Given the description of an element on the screen output the (x, y) to click on. 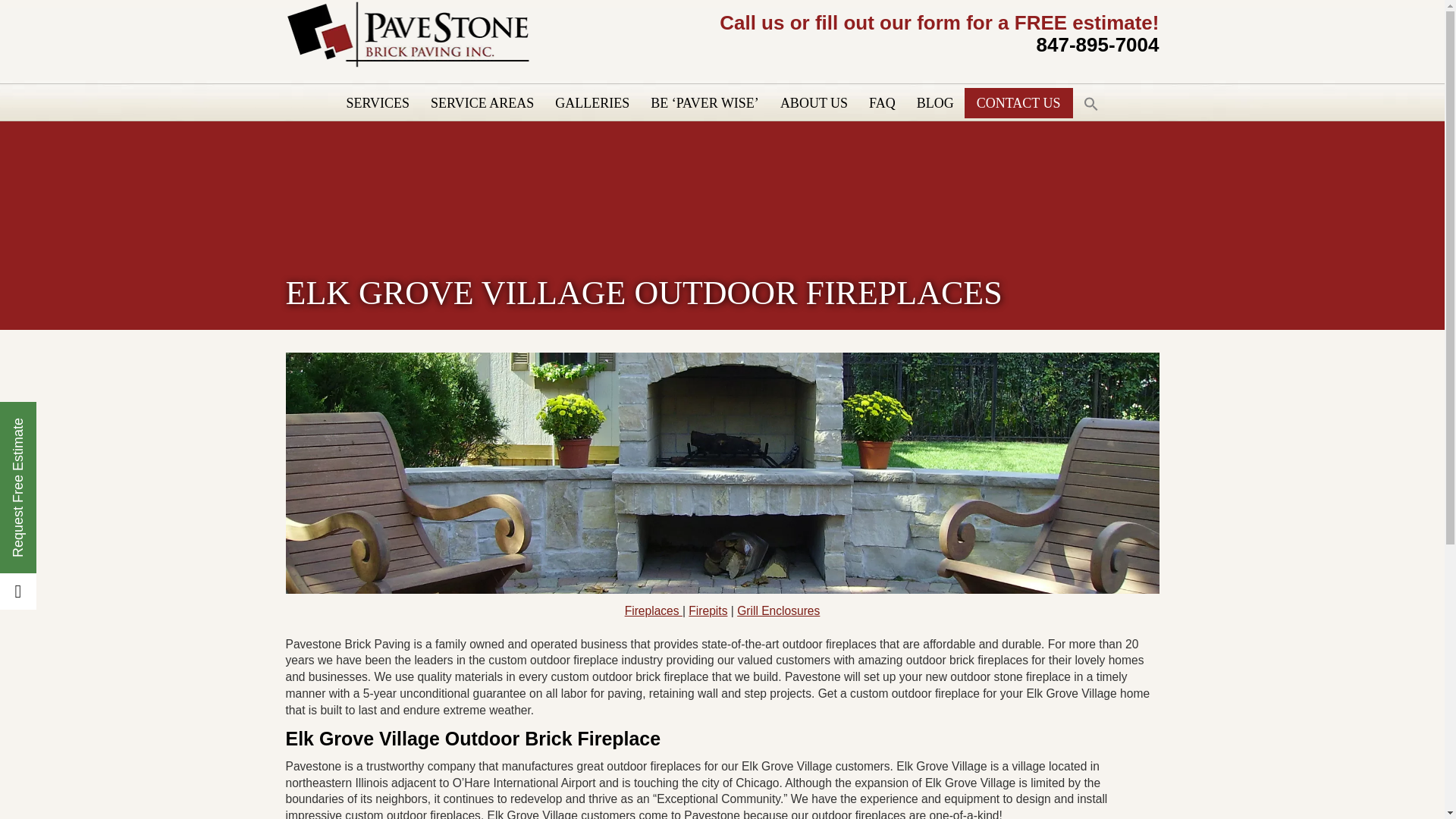
Pavestone Brick Paving (407, 64)
CONTACT US (1018, 102)
GALLERIES (592, 103)
BLOG (934, 103)
847-895-7004 (1097, 44)
ABOUT US (814, 103)
SERVICES (377, 103)
FAQ (882, 103)
SERVICE AREAS (482, 103)
